Given the description of an element on the screen output the (x, y) to click on. 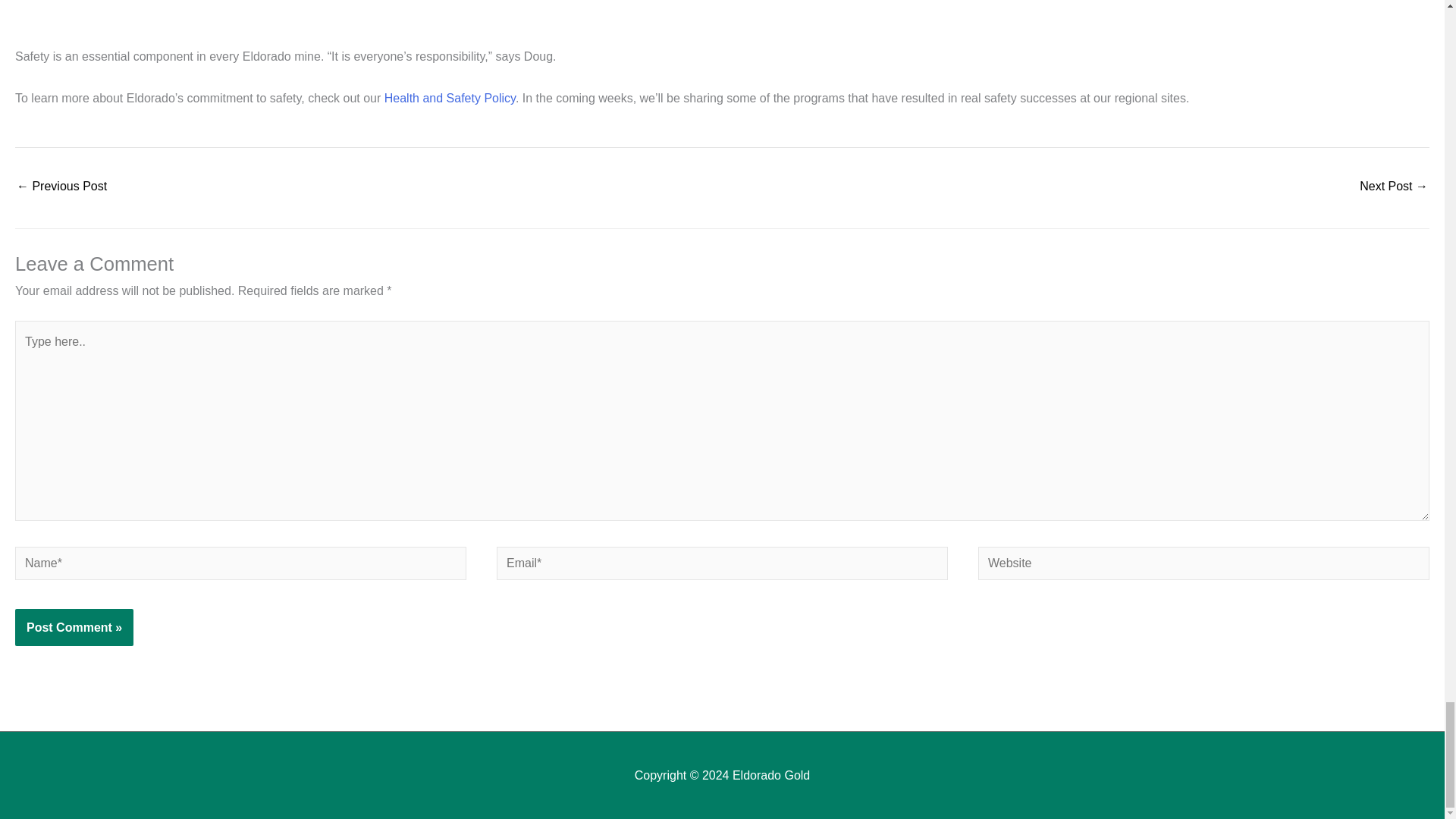
Health and Safety Policy (449, 97)
Cyanide Certification: How Our Gold Mines Get It Right (61, 187)
A No-nonsense Approach to Health and Safety (1393, 187)
